Given the description of an element on the screen output the (x, y) to click on. 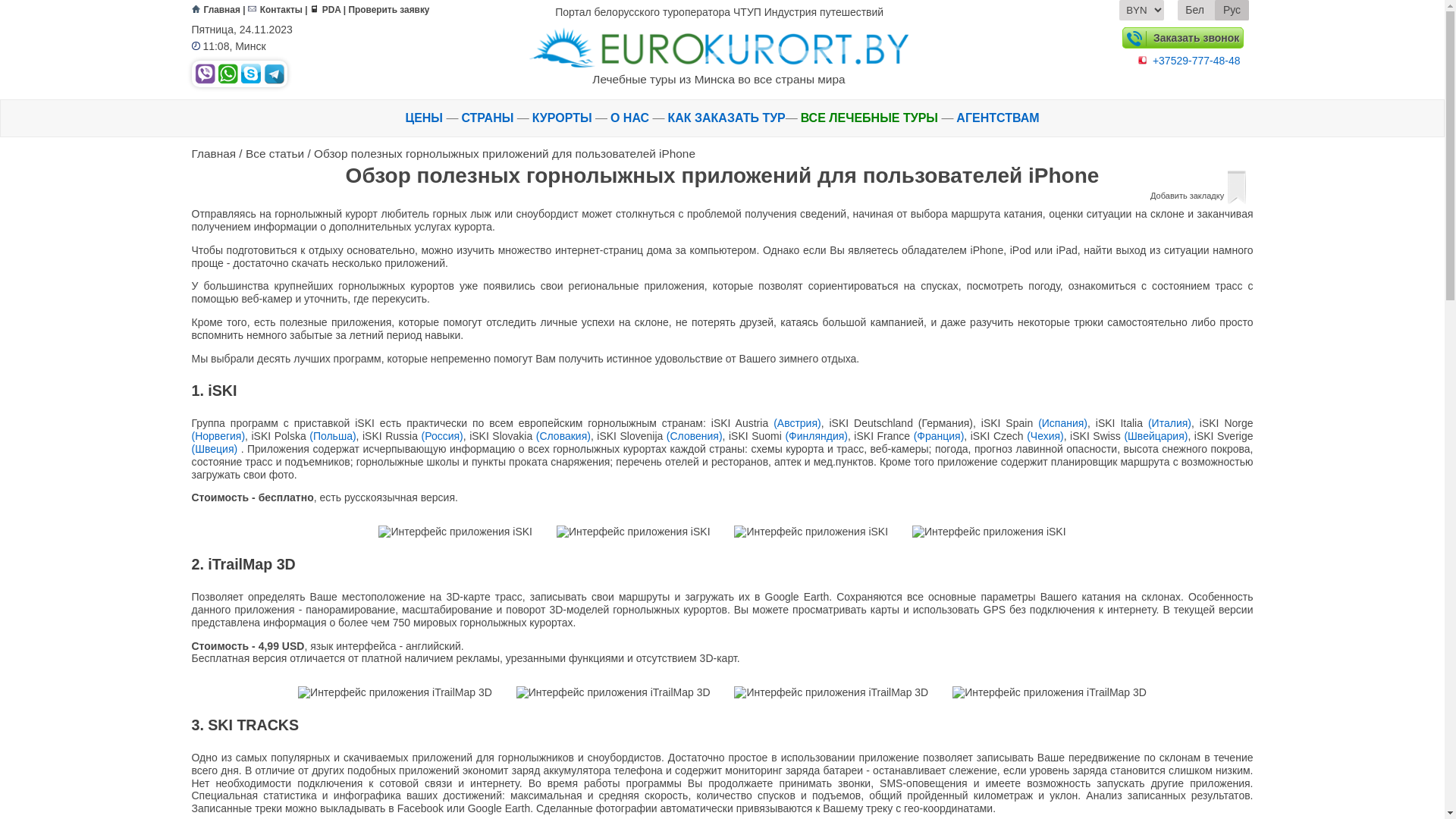
PDA Element type: text (325, 9)
PDA Element type: hover (314, 8)
+37529-777-48-48 Element type: text (1196, 60)
